Given the description of an element on the screen output the (x, y) to click on. 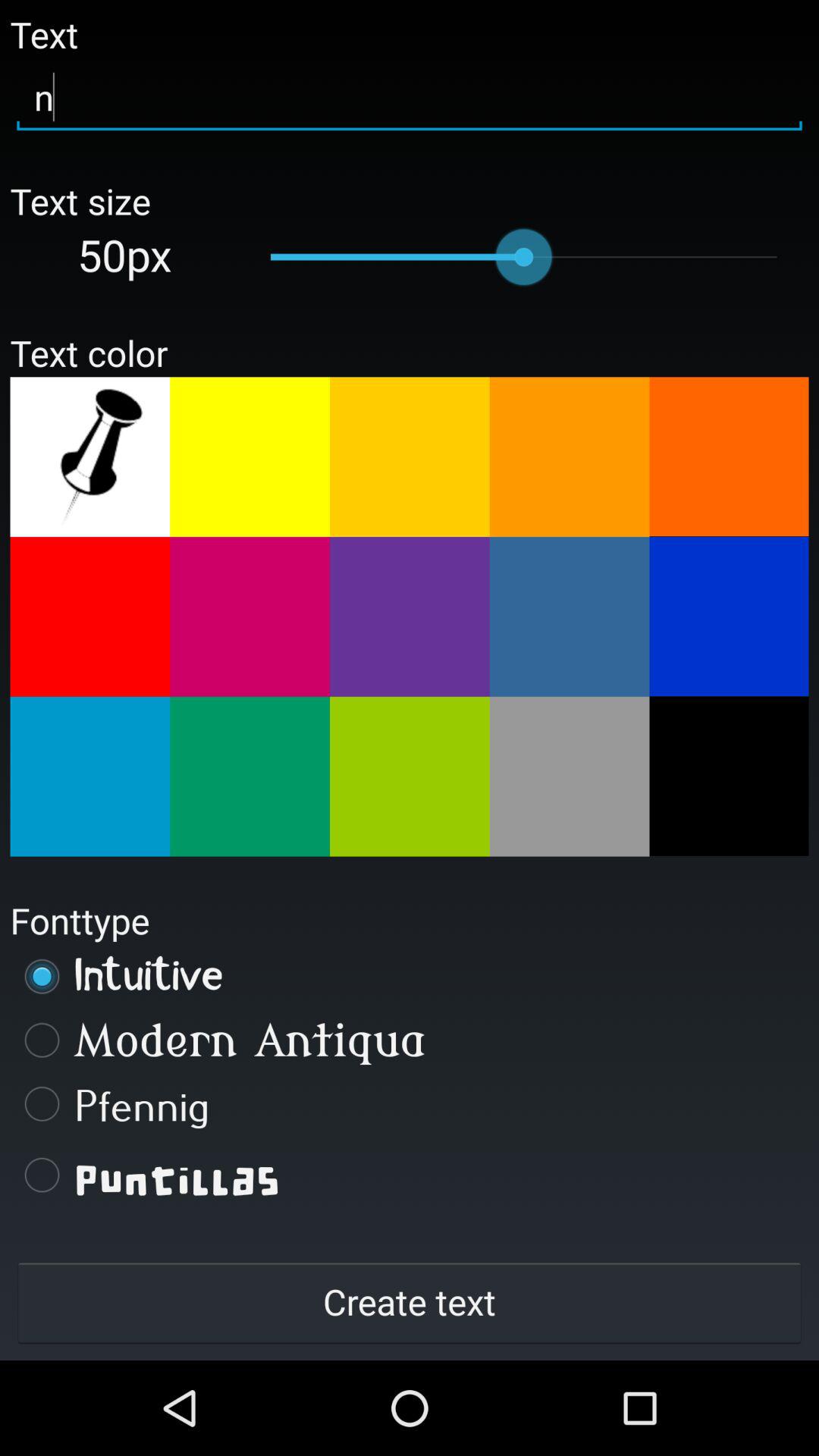
change the color (409, 616)
